Given the description of an element on the screen output the (x, y) to click on. 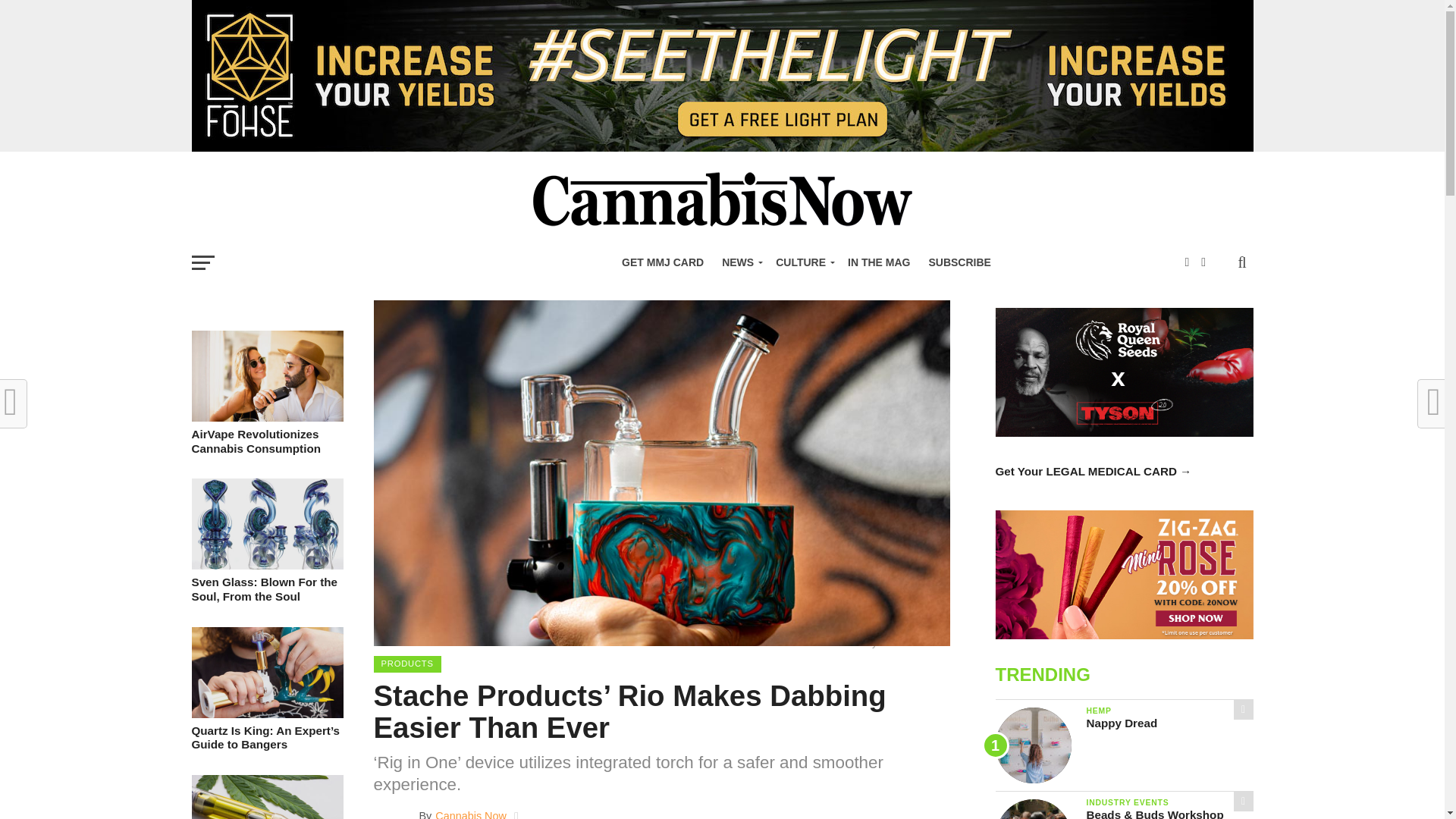
Posts by Cannabis Now (470, 814)
GET MMJ CARD (662, 262)
AirVape Revolutionizes Cannabis Consumption (266, 417)
Sven Glass: Blown For the Soul, From the Soul (266, 564)
